Given the description of an element on the screen output the (x, y) to click on. 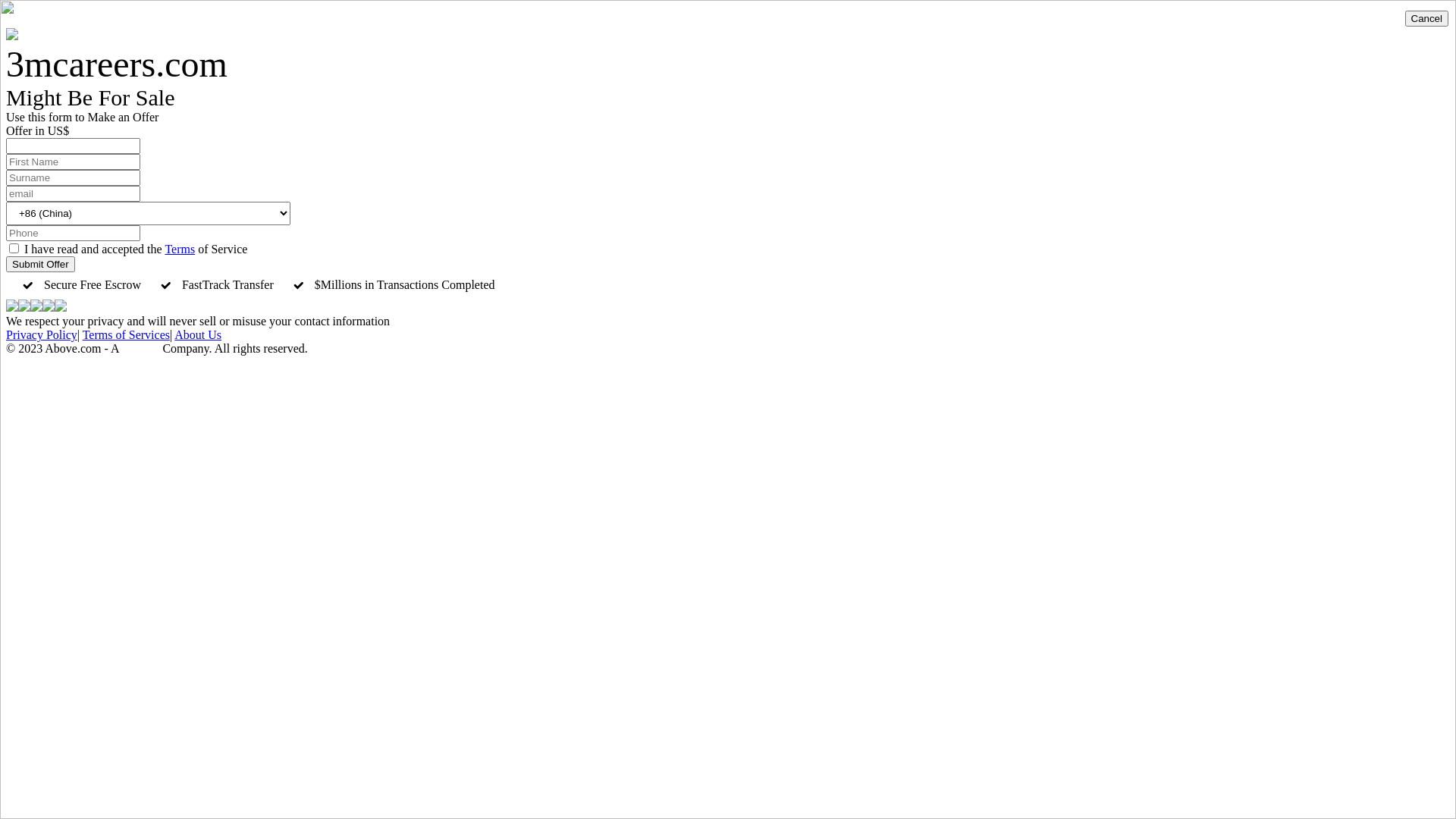
Terms Element type: text (179, 248)
Submit Offer Element type: text (40, 264)
Privacy Policy Element type: text (41, 334)
About Us Element type: text (197, 334)
Trellian Element type: text (140, 348)
Terms of Services Element type: text (125, 334)
Cancel Element type: text (1426, 18)
